Given the description of an element on the screen output the (x, y) to click on. 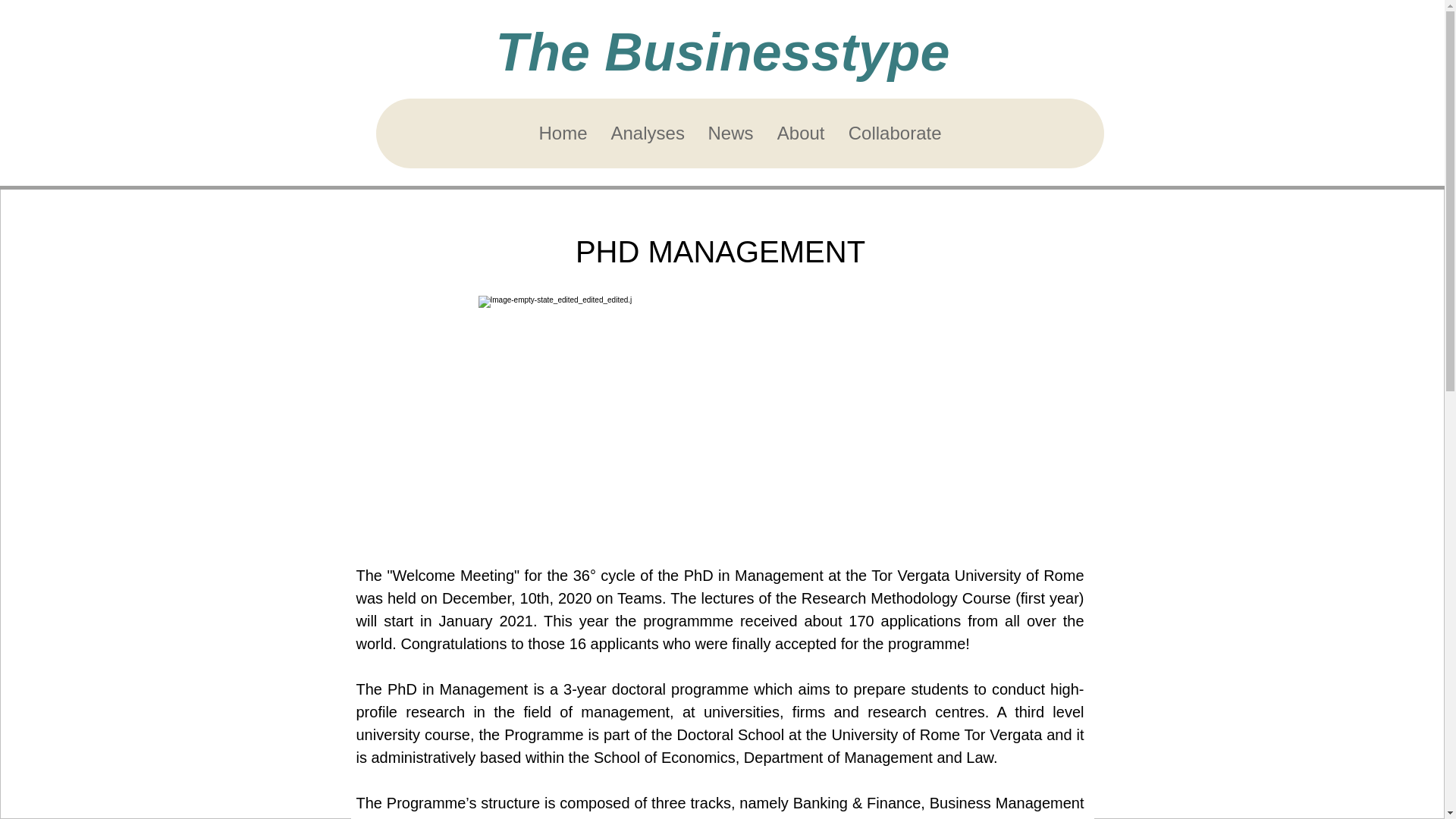
Foto Dottorato.jpg (718, 419)
Collaborate (893, 133)
Home (561, 133)
The Businesstype (722, 51)
News (730, 133)
About (799, 133)
Analyses (646, 133)
